Given the description of an element on the screen output the (x, y) to click on. 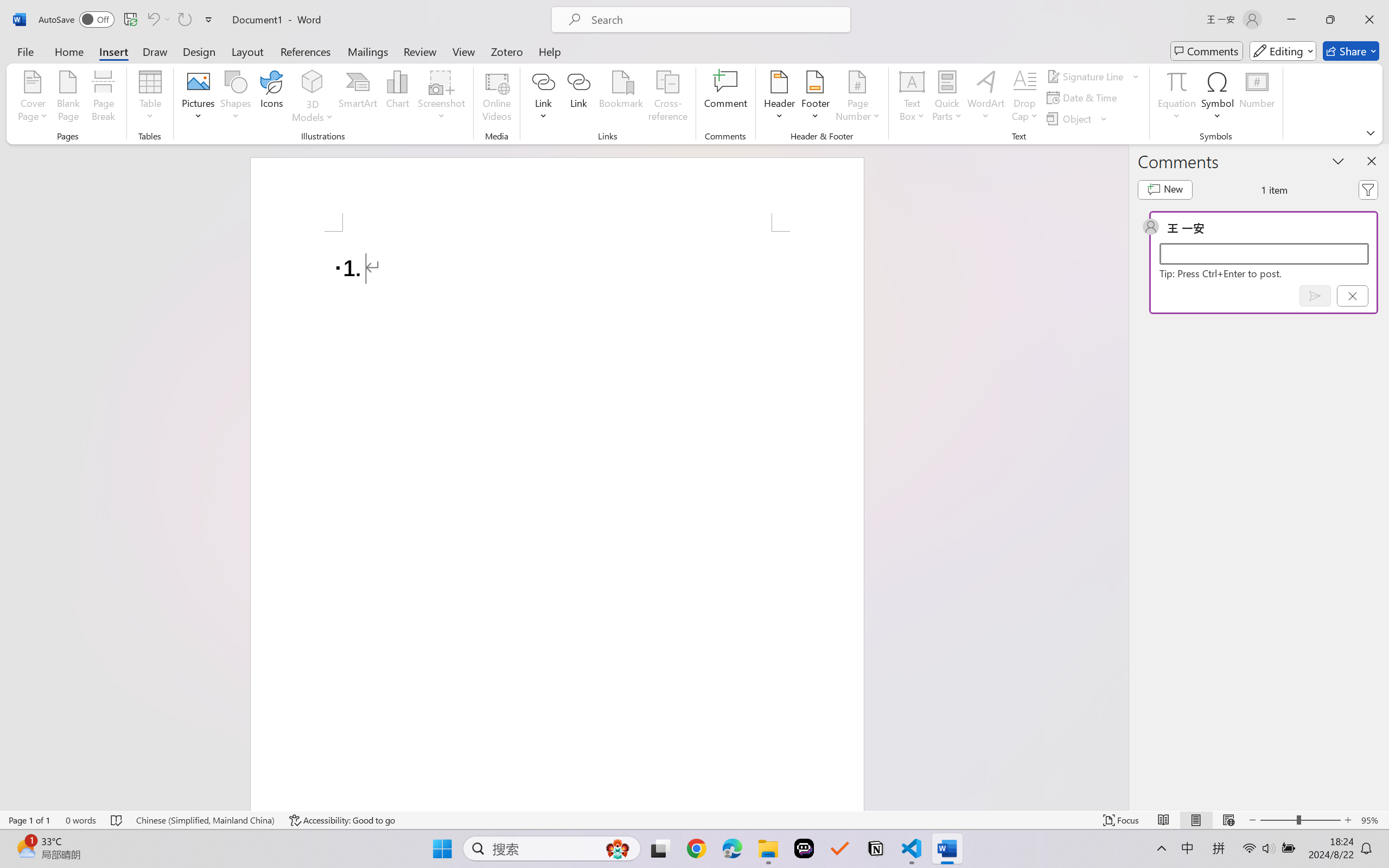
Cross-reference... (667, 97)
Start a conversation (1263, 254)
SmartArt... (358, 97)
Undo Number Default (158, 19)
Date & Time... (1083, 97)
